Given the description of an element on the screen output the (x, y) to click on. 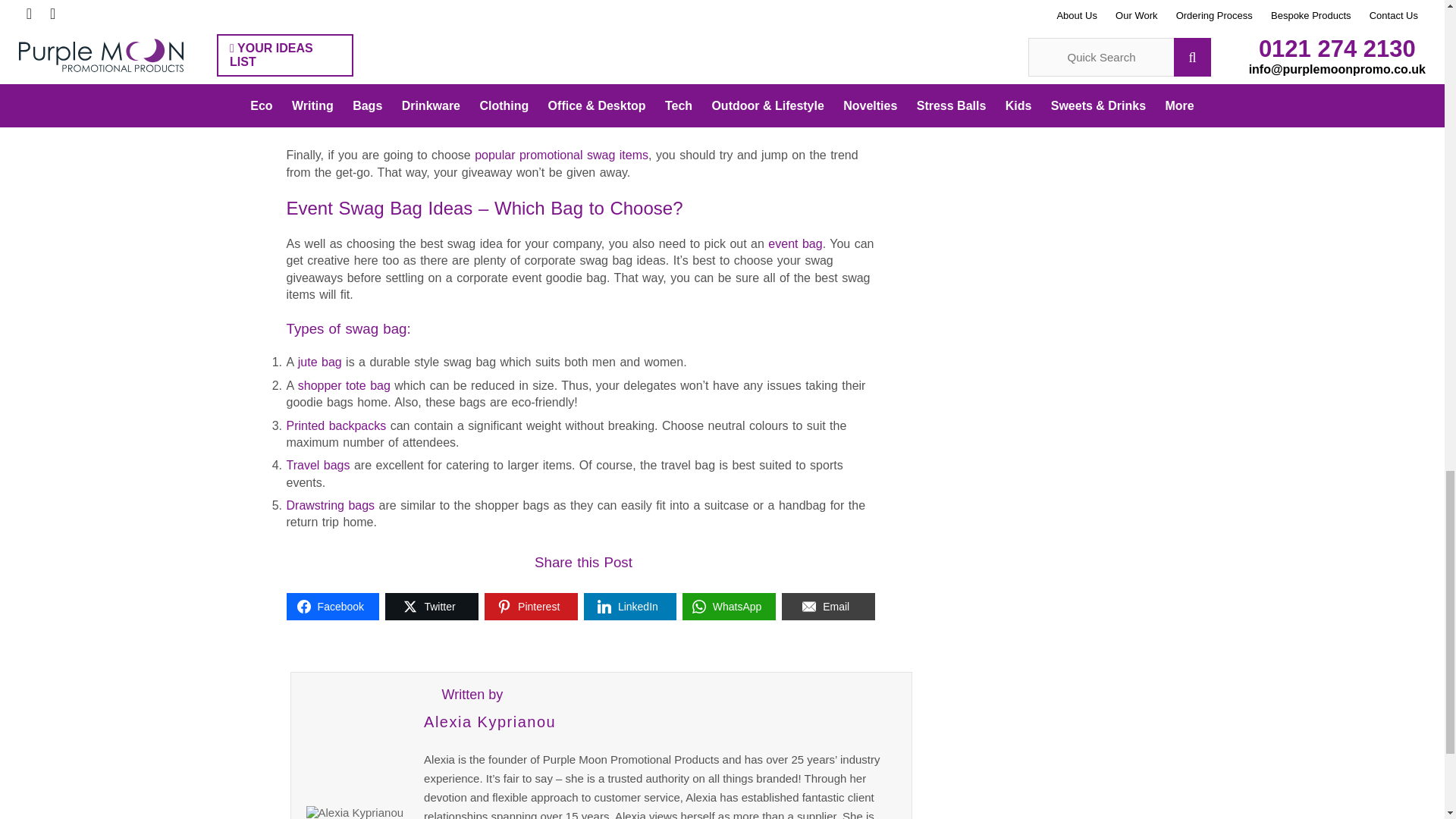
Share on Facebook (333, 605)
Share on Email (828, 605)
Share on LinkedIn (630, 605)
Share on Twitter (432, 605)
Share on WhatsApp (729, 605)
Share on Pinterest (531, 605)
